Given the description of an element on the screen output the (x, y) to click on. 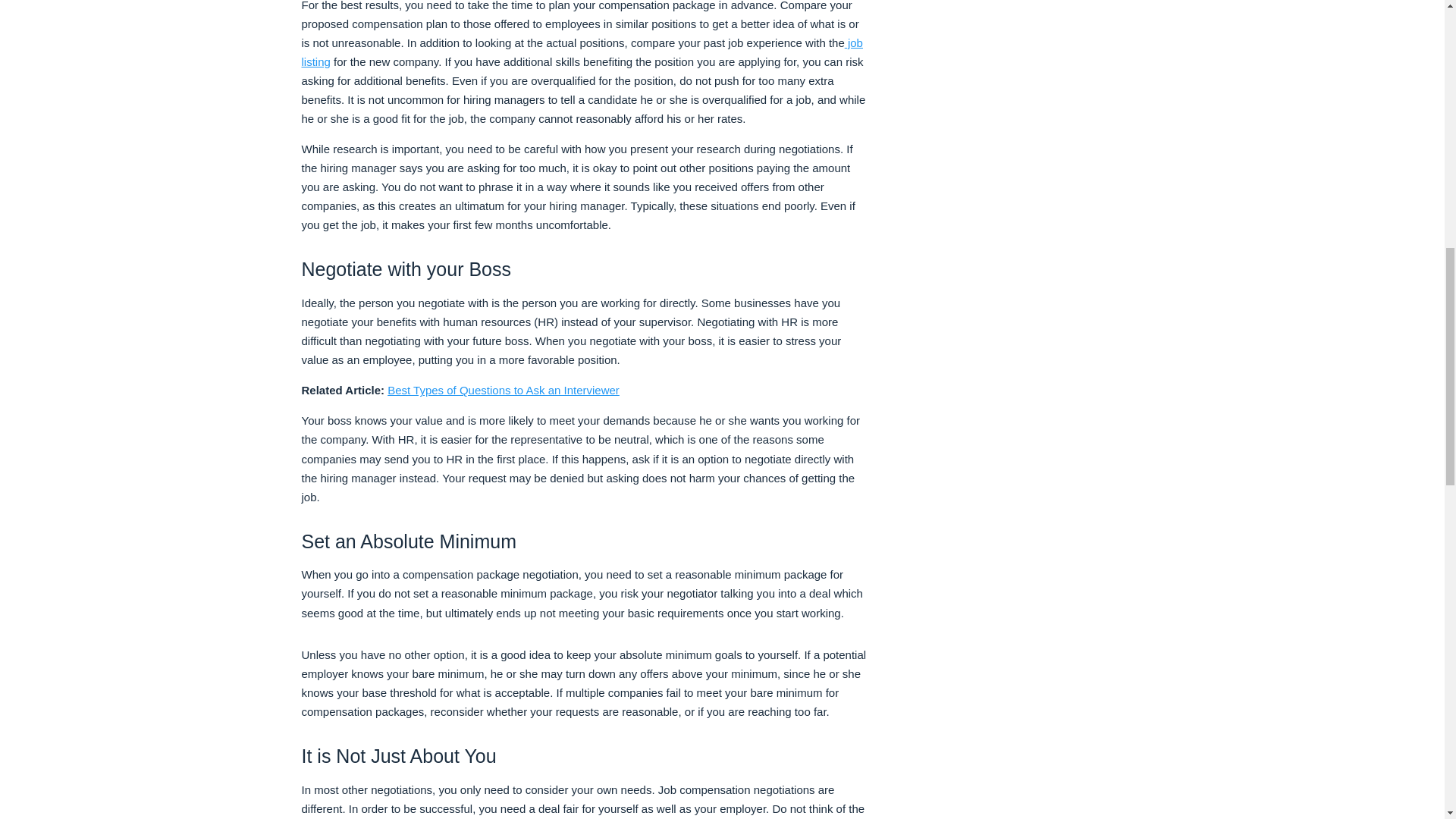
Best Types of Questions to Ask an Interviewer (503, 390)
job listing (582, 51)
